Given the description of an element on the screen output the (x, y) to click on. 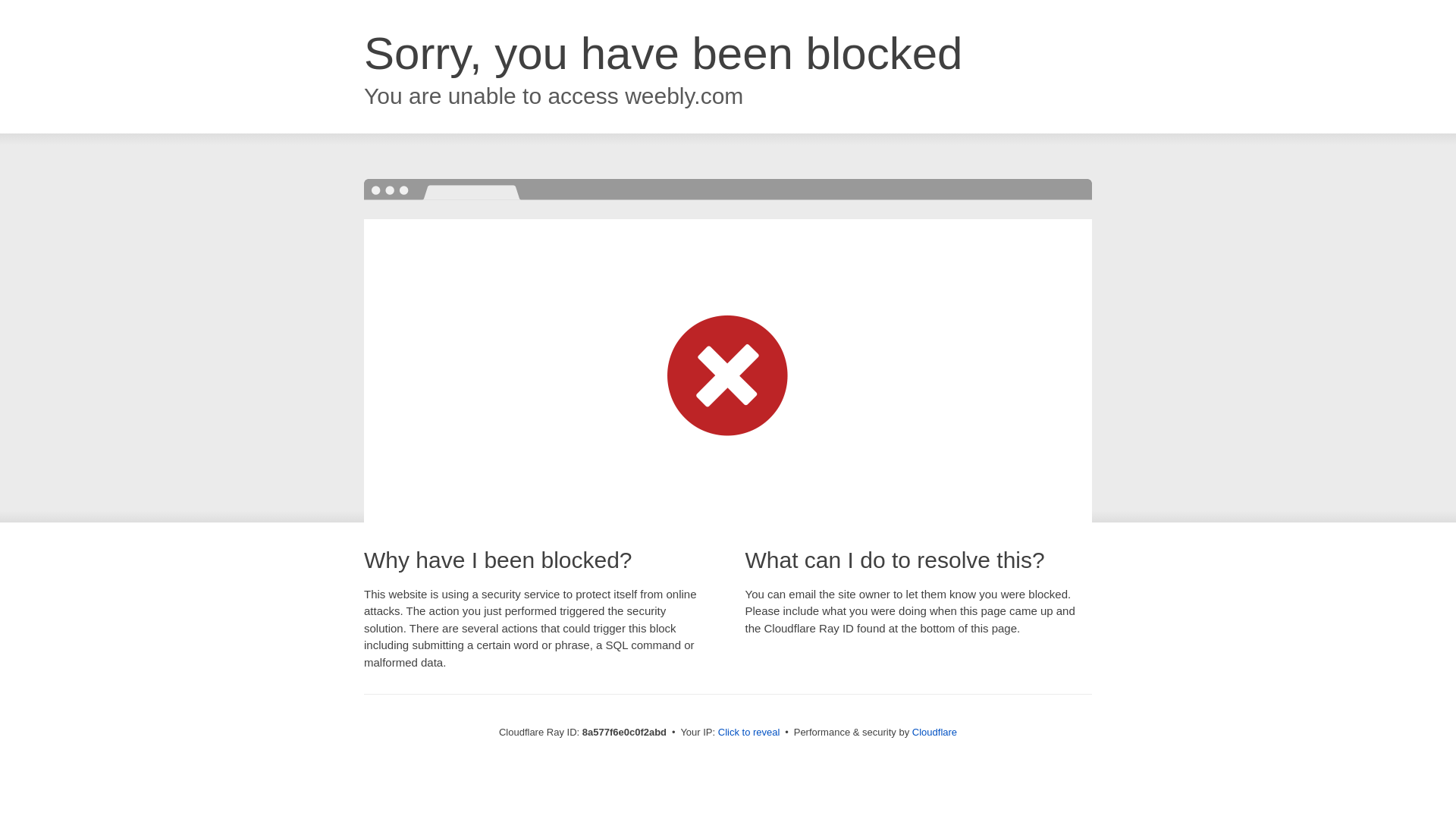
Click to reveal (748, 732)
Cloudflare (934, 731)
